Given the description of an element on the screen output the (x, y) to click on. 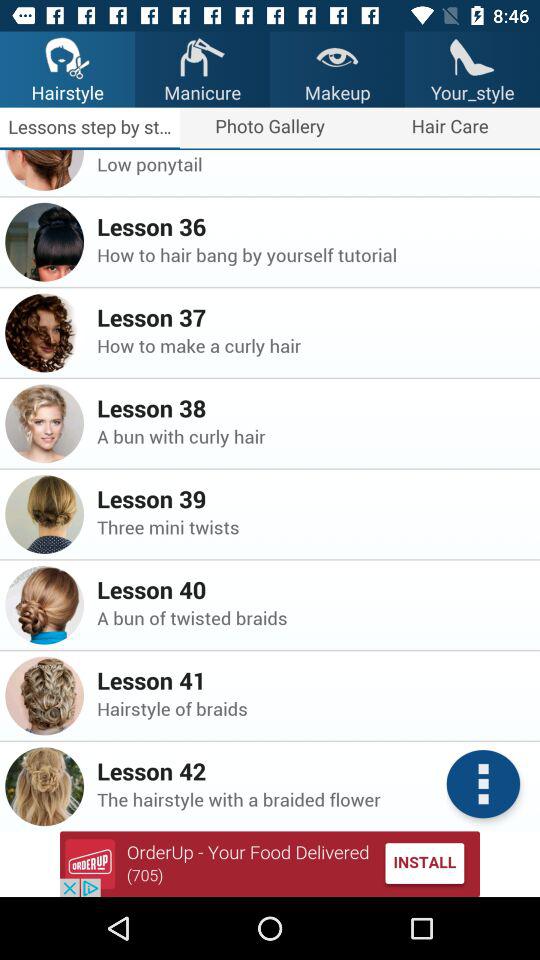
click item above how to hair icon (311, 226)
